Given the description of an element on the screen output the (x, y) to click on. 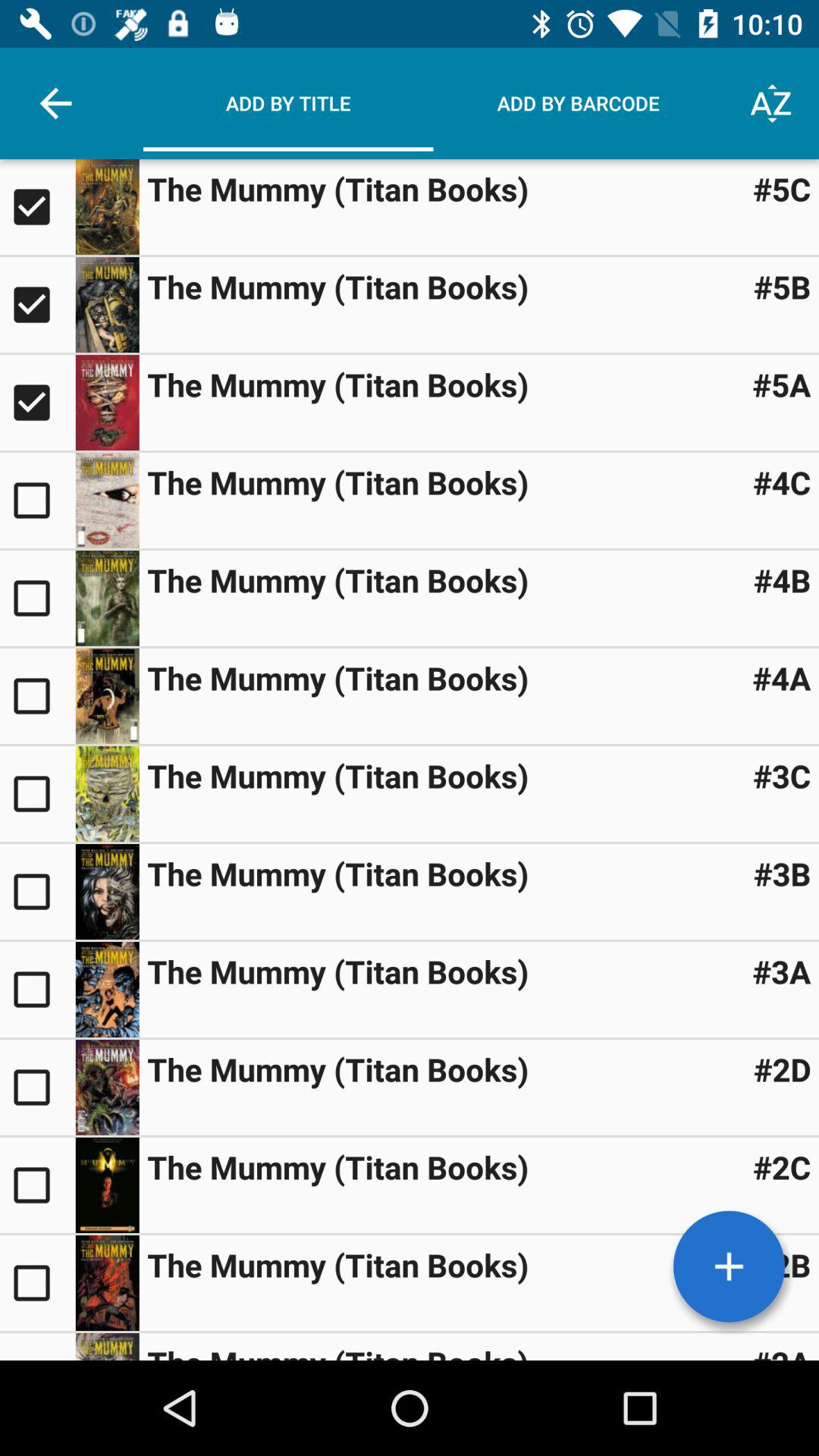
click the icon to the right of the mummy titan (782, 579)
